Given the description of an element on the screen output the (x, y) to click on. 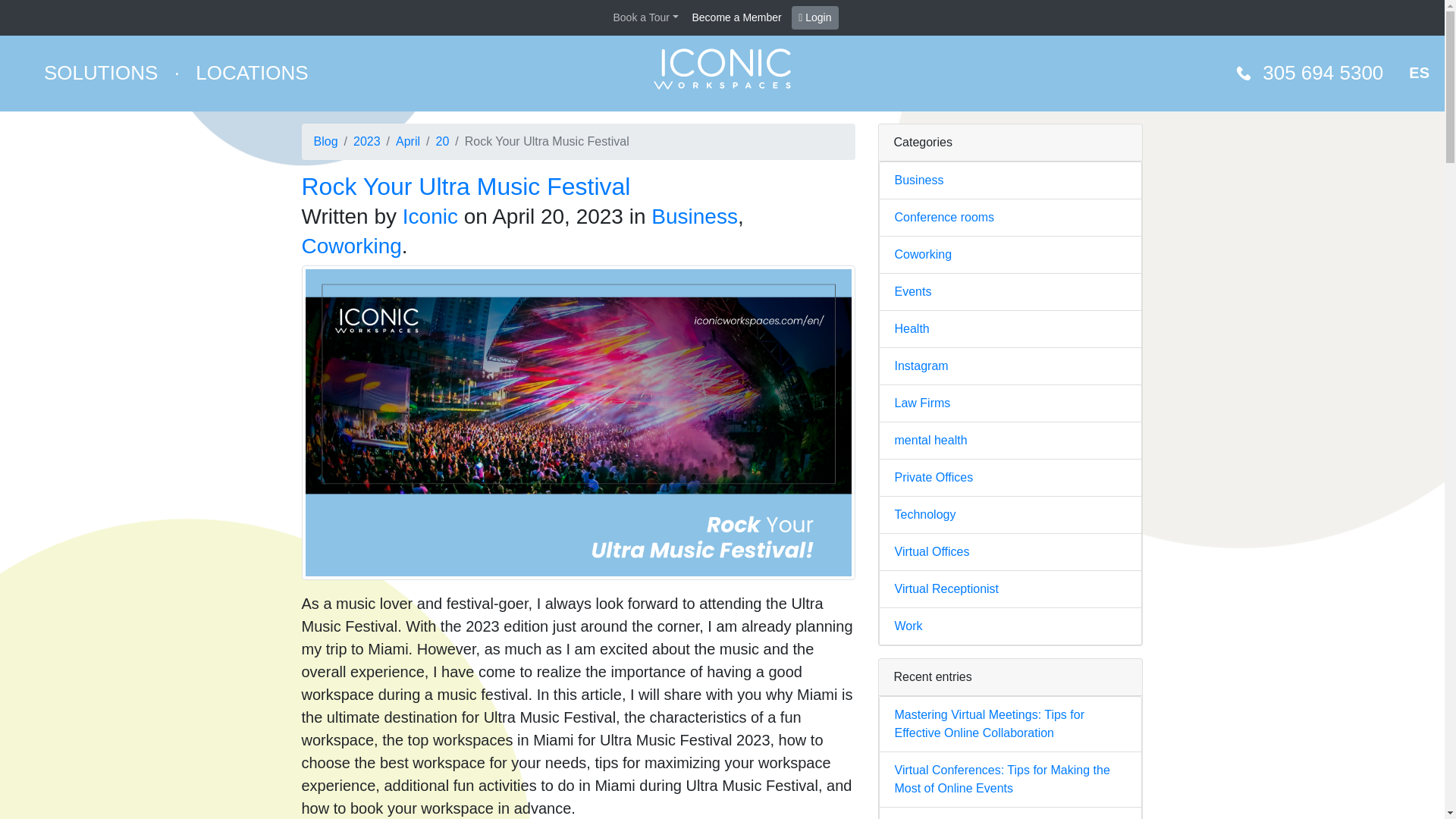
SOLUTIONS (100, 73)
Book a Tour (644, 17)
LOCATIONS (251, 73)
ES (1419, 72)
Login (815, 17)
Become a Member (737, 17)
305 694 5300 (1322, 72)
